Given the description of an element on the screen output the (x, y) to click on. 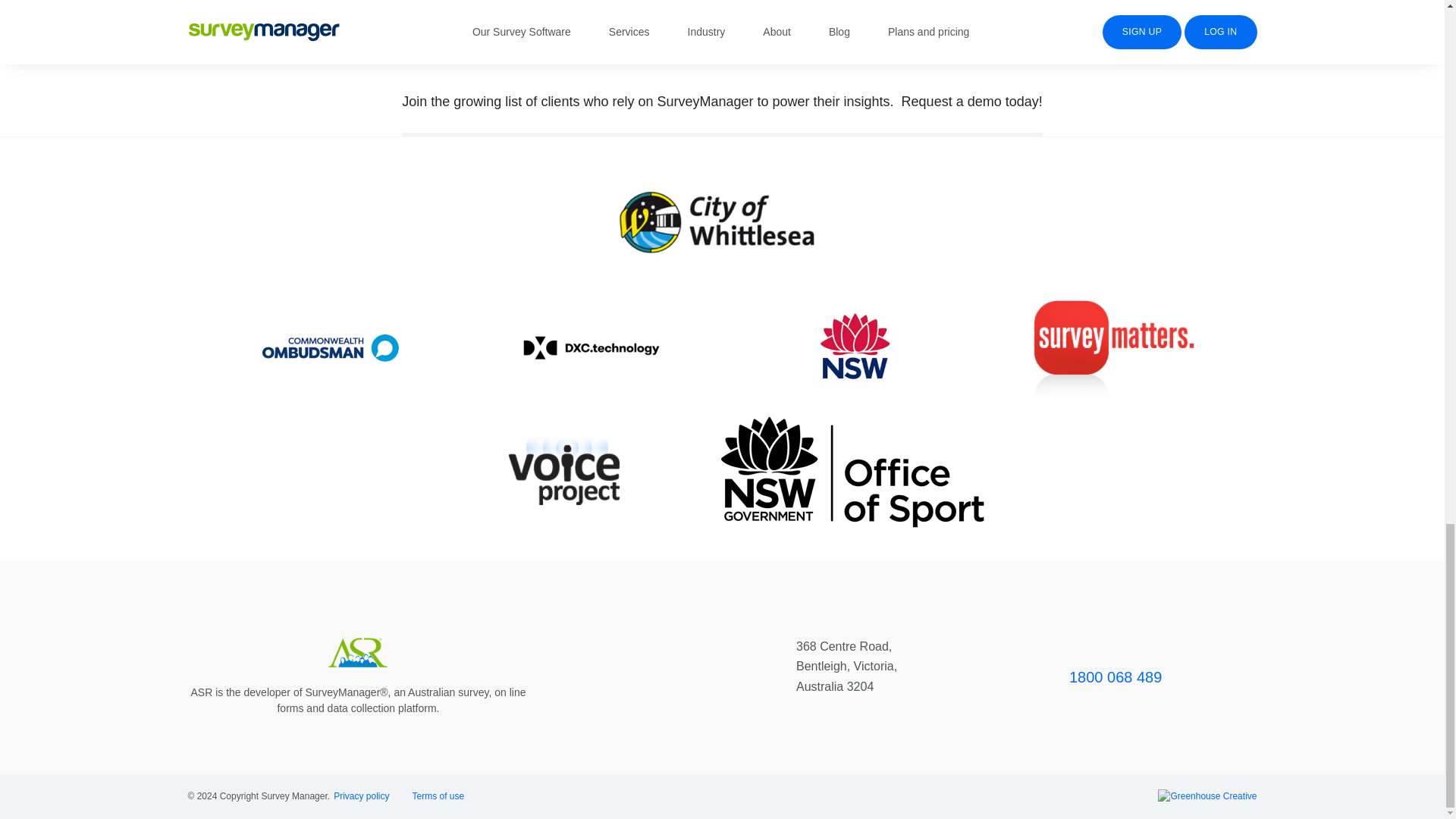
Privacy policy (360, 796)
1800 068 489 (1114, 677)
